Given the description of an element on the screen output the (x, y) to click on. 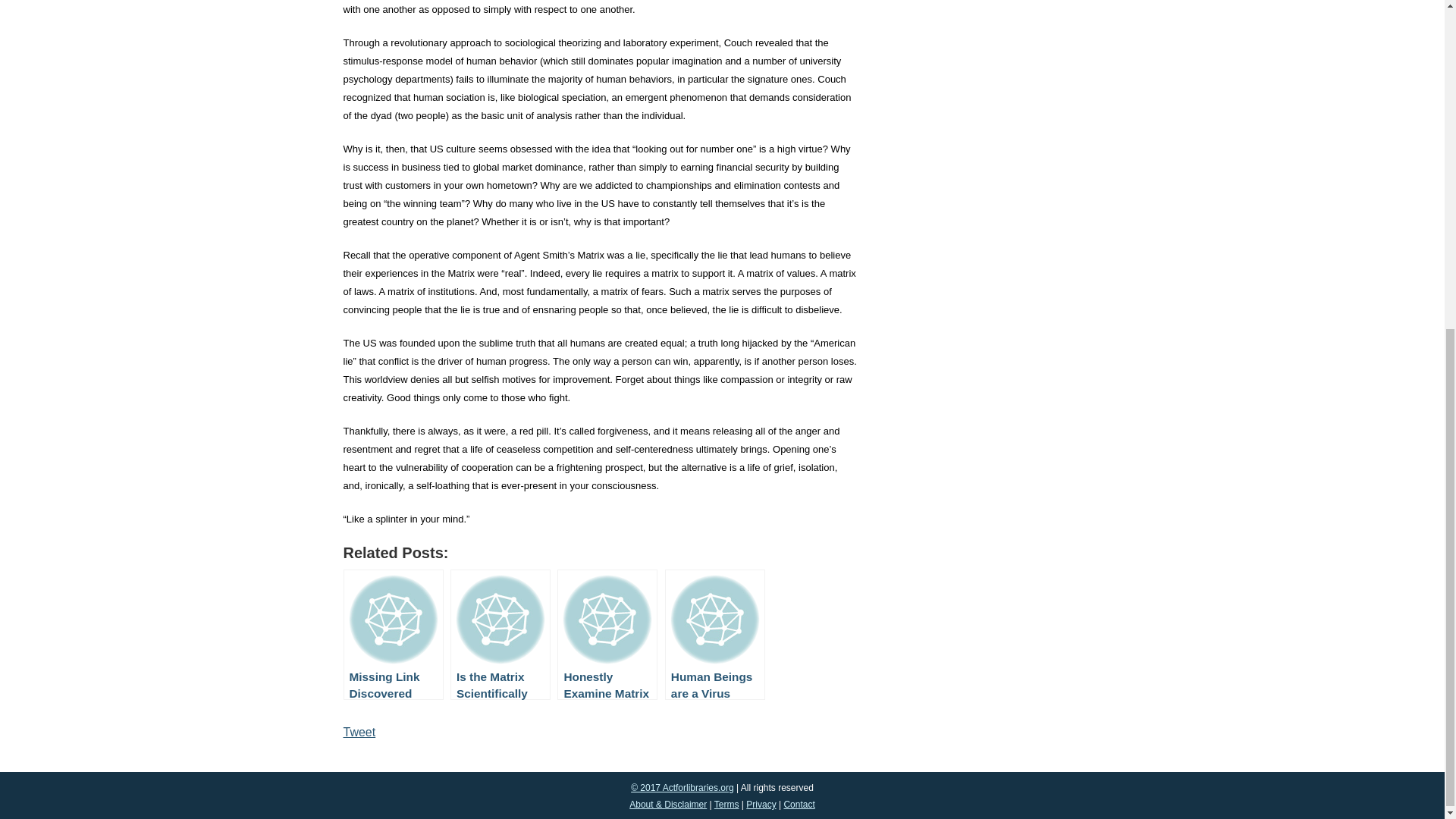
Privacy (760, 804)
Terms (726, 804)
Tweet (358, 731)
Contact (798, 804)
